Given the description of an element on the screen output the (x, y) to click on. 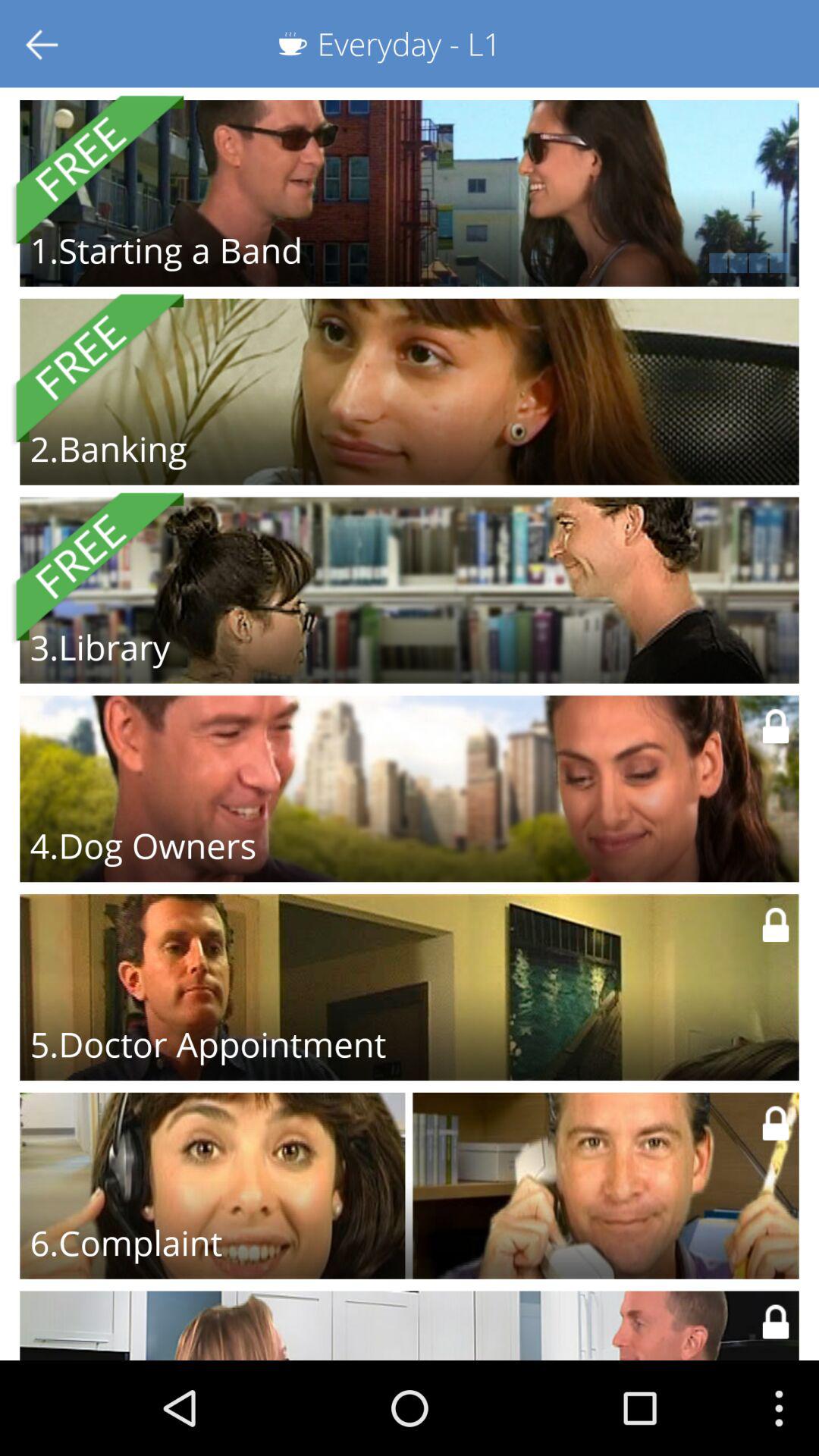
flip until 1 starting a item (166, 250)
